Given the description of an element on the screen output the (x, y) to click on. 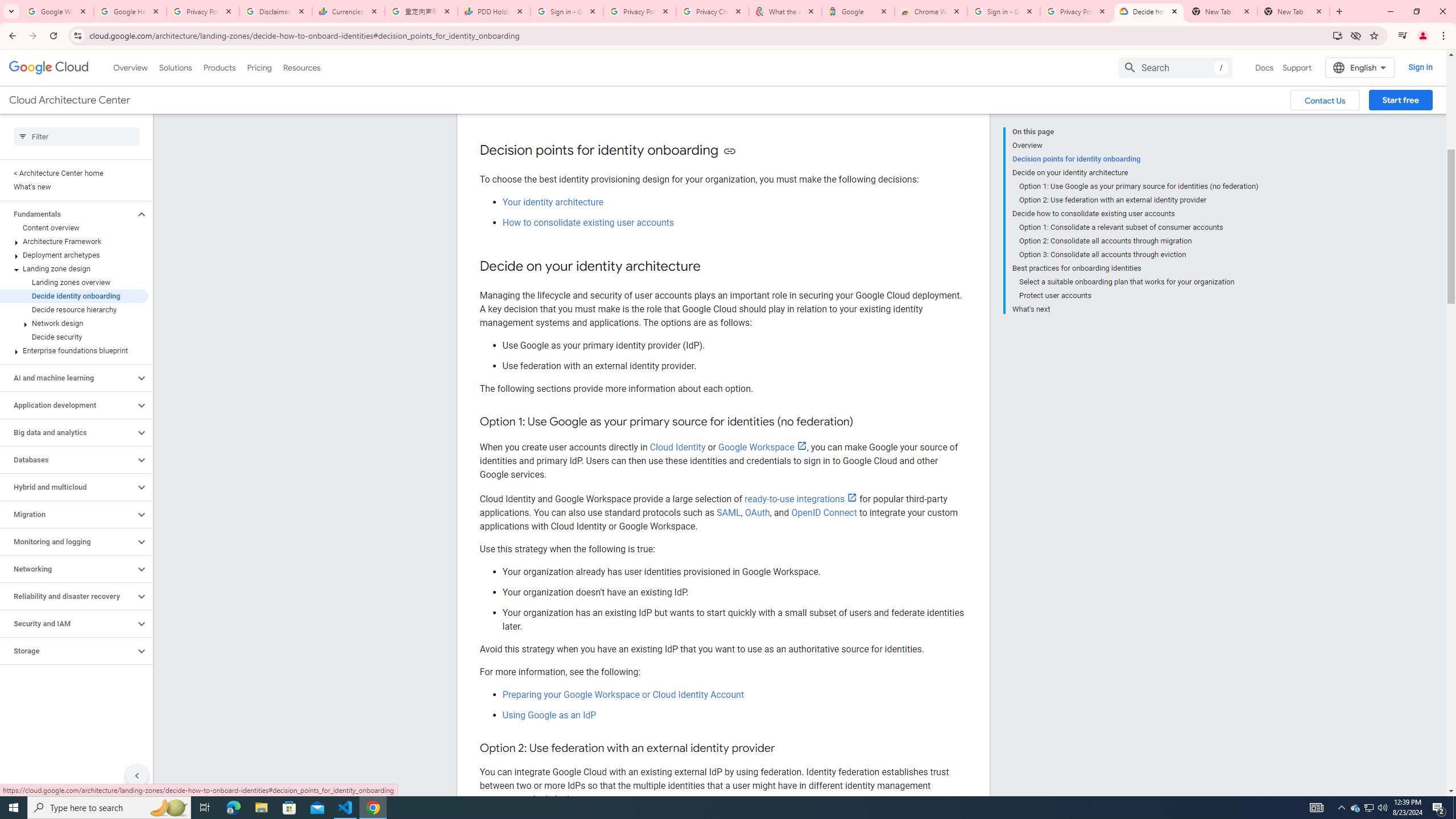
Resources (301, 67)
< Architecture Center home (74, 173)
Enterprise foundations blueprint (74, 350)
What's next (1134, 307)
Monitoring and logging (67, 541)
Reliability and disaster recovery (67, 596)
Your identity architecture (552, 201)
Google (857, 11)
Decision points for identity onboarding (1134, 159)
Option 1: Consolidate a relevant subset of consumer accounts (1138, 227)
